Given the description of an element on the screen output the (x, y) to click on. 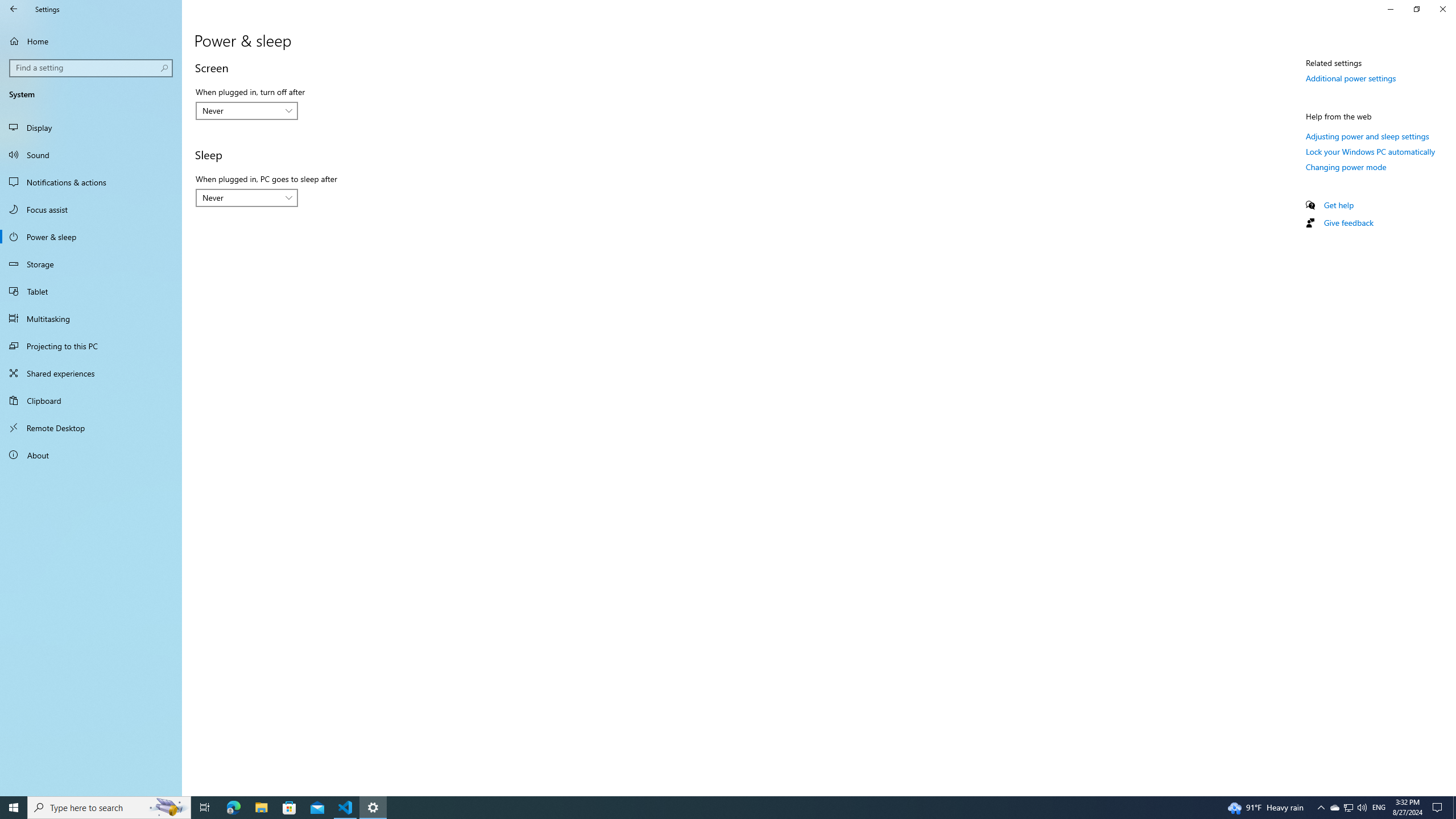
Storage (91, 263)
Restore Settings (1416, 9)
Minimize Settings (1390, 9)
Adjusting power and sleep settings (1367, 136)
Running applications (706, 807)
Shared experiences (91, 372)
Lock your Windows PC automatically (1370, 151)
Focus assist (91, 208)
